Given the description of an element on the screen output the (x, y) to click on. 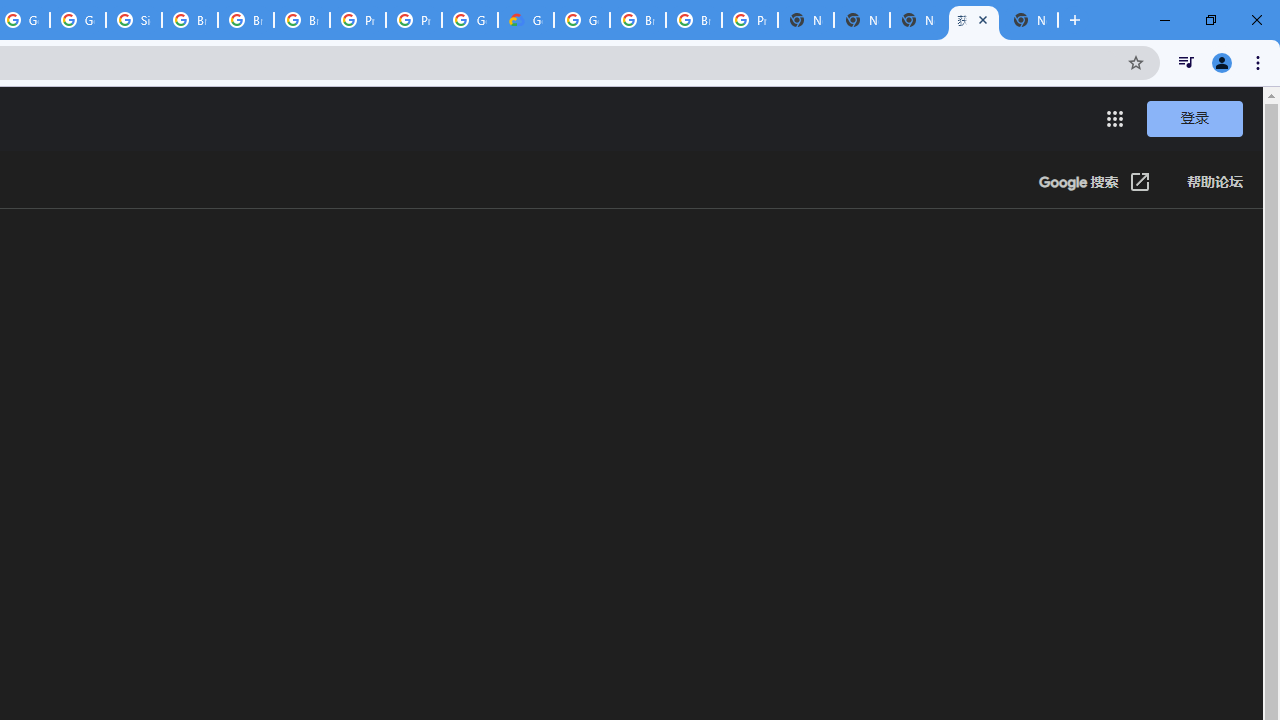
Sign in - Google Accounts (134, 20)
New Tab (1030, 20)
Google Cloud Platform (582, 20)
Browse Chrome as a guest - Computer - Google Chrome Help (245, 20)
Google Cloud Estimate Summary (525, 20)
Google Cloud Platform (469, 20)
